Given the description of an element on the screen output the (x, y) to click on. 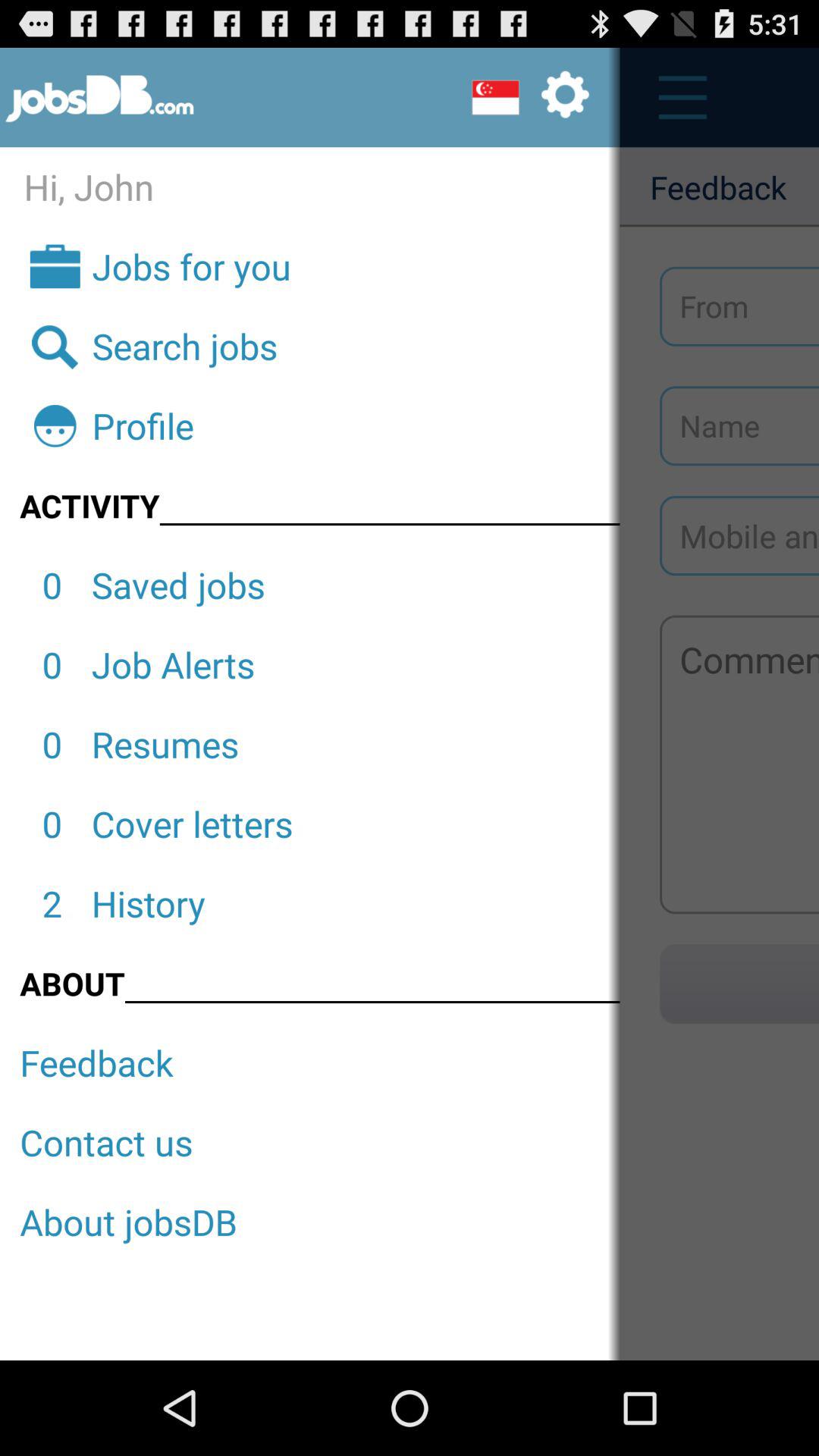
setting (530, 97)
